Given the description of an element on the screen output the (x, y) to click on. 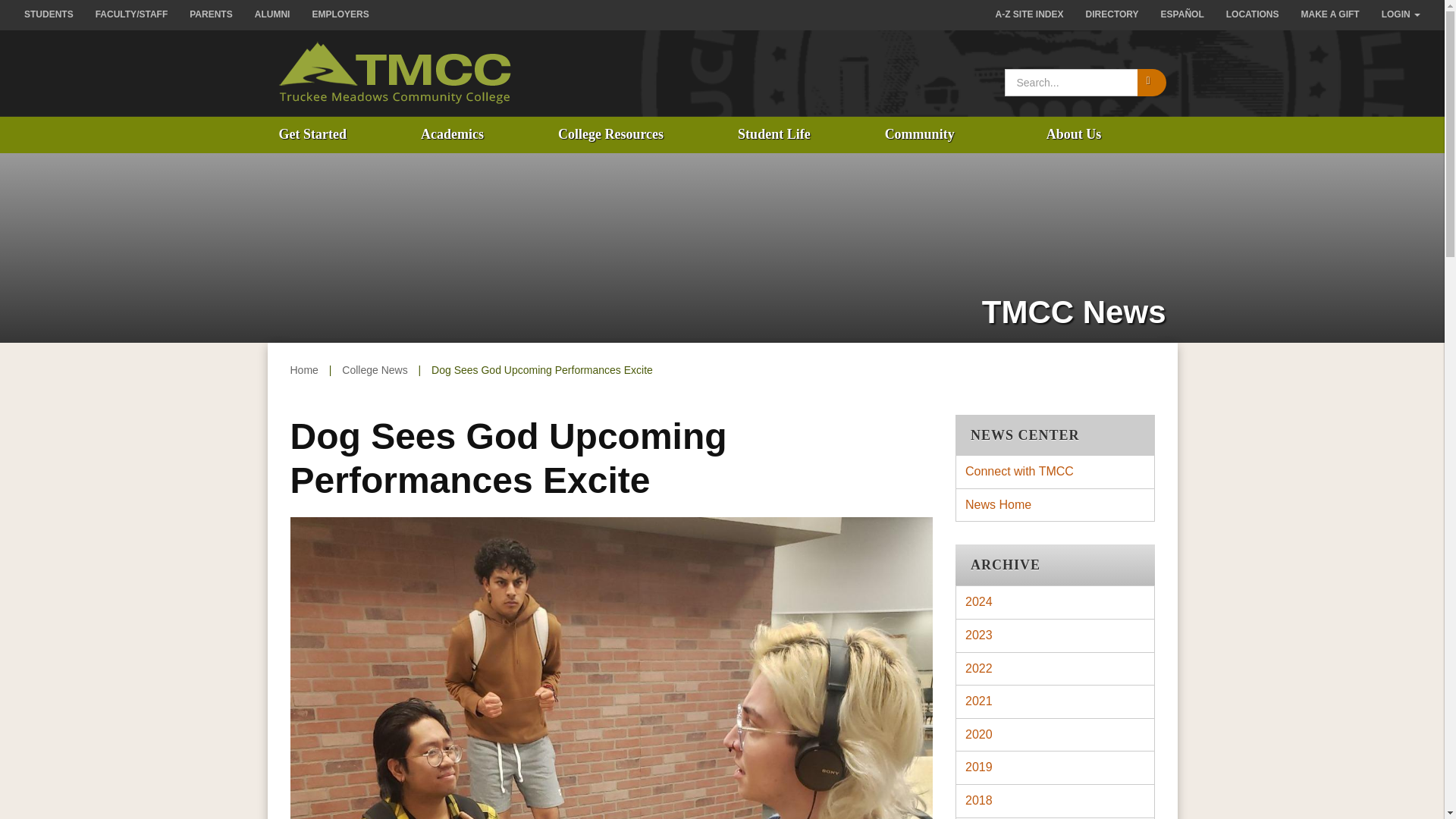
LOGIN (1401, 15)
Search (1151, 82)
Student Life (774, 135)
LOCATIONS (1252, 15)
STUDENTS (48, 15)
SEARCH (1151, 82)
Enter Text (1070, 82)
Community (919, 135)
Get Started (311, 135)
DIRECTORY (1112, 15)
About Us (1074, 135)
ALUMNI (272, 15)
EMPLOYERS (339, 15)
A-Z SITE INDEX (1030, 15)
